Given the description of an element on the screen output the (x, y) to click on. 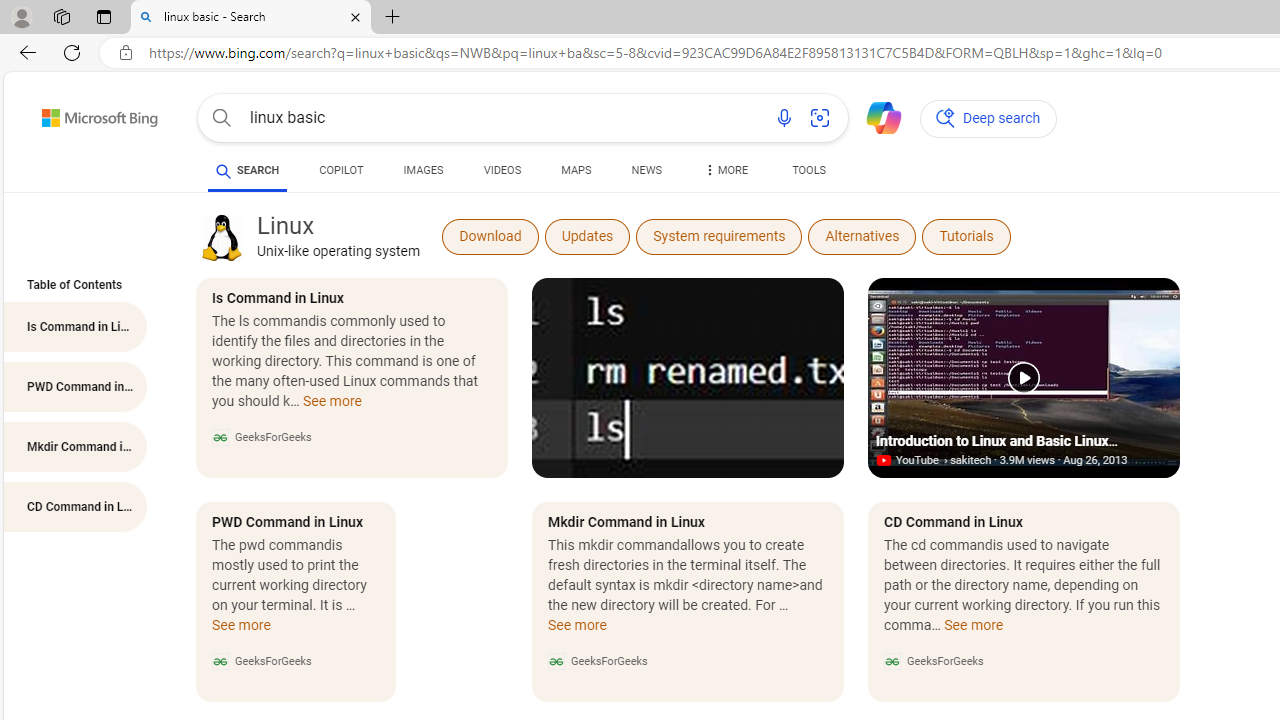
See more Mkdir Command in Linux (576, 630)
SEARCH (247, 170)
Skip to content (64, 111)
Chat (875, 116)
See more PWD Command in Linux (241, 630)
MAPS (576, 173)
Introduction to Linux and Basic Linux Commands for Beginners (1023, 377)
